Given the description of an element on the screen output the (x, y) to click on. 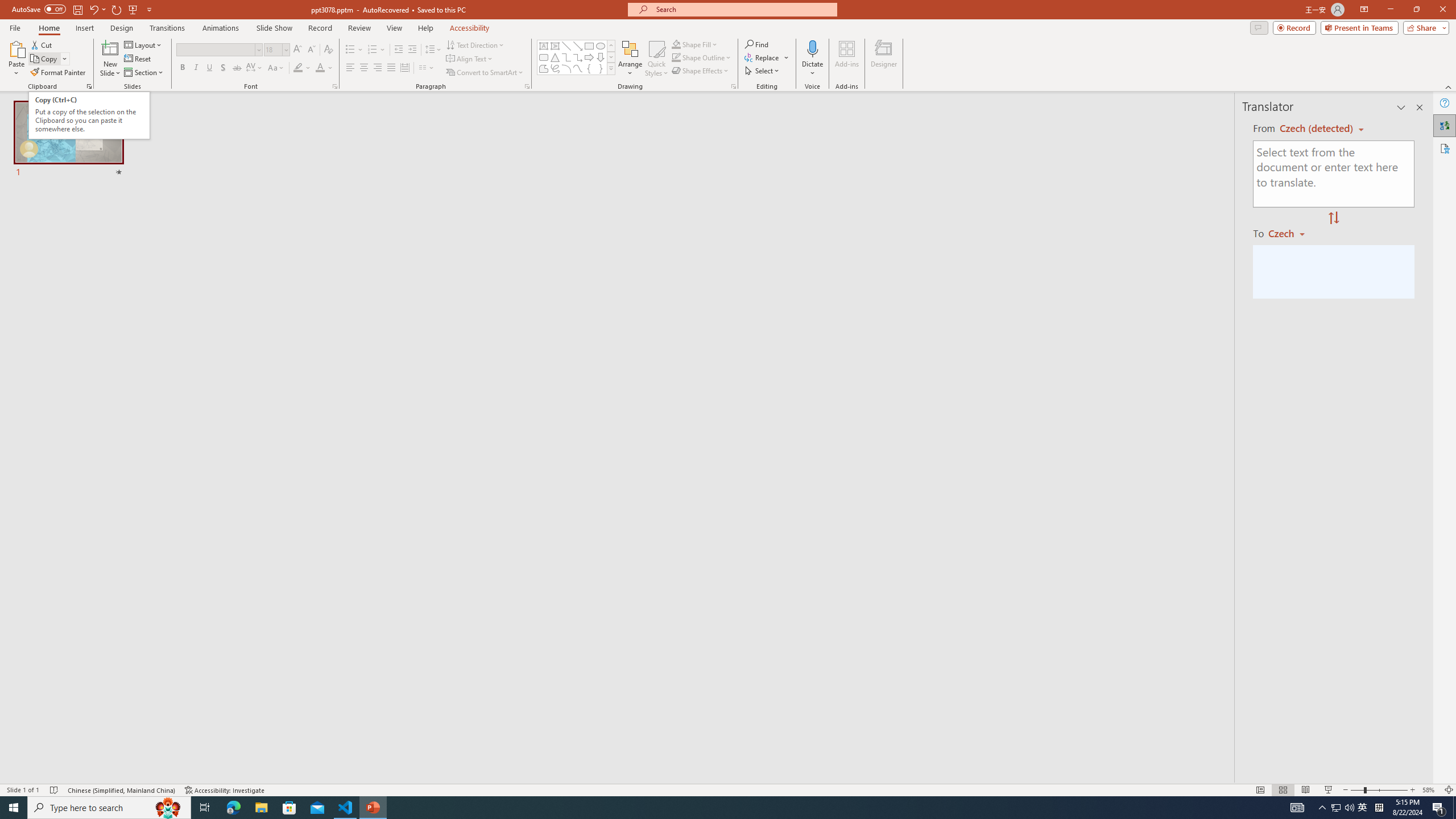
Zoom to Fit  (1449, 790)
Microsoft search (742, 9)
Cut (42, 44)
Increase Indent (412, 49)
Line Arrow (577, 45)
Animations (220, 28)
Strikethrough (237, 67)
Present in Teams (1359, 27)
Normal (1260, 790)
Task Pane Options (1400, 107)
Right Brace (600, 68)
Bullets (349, 49)
Czech (1291, 232)
Layout (143, 44)
Font (215, 49)
